Given the description of an element on the screen output the (x, y) to click on. 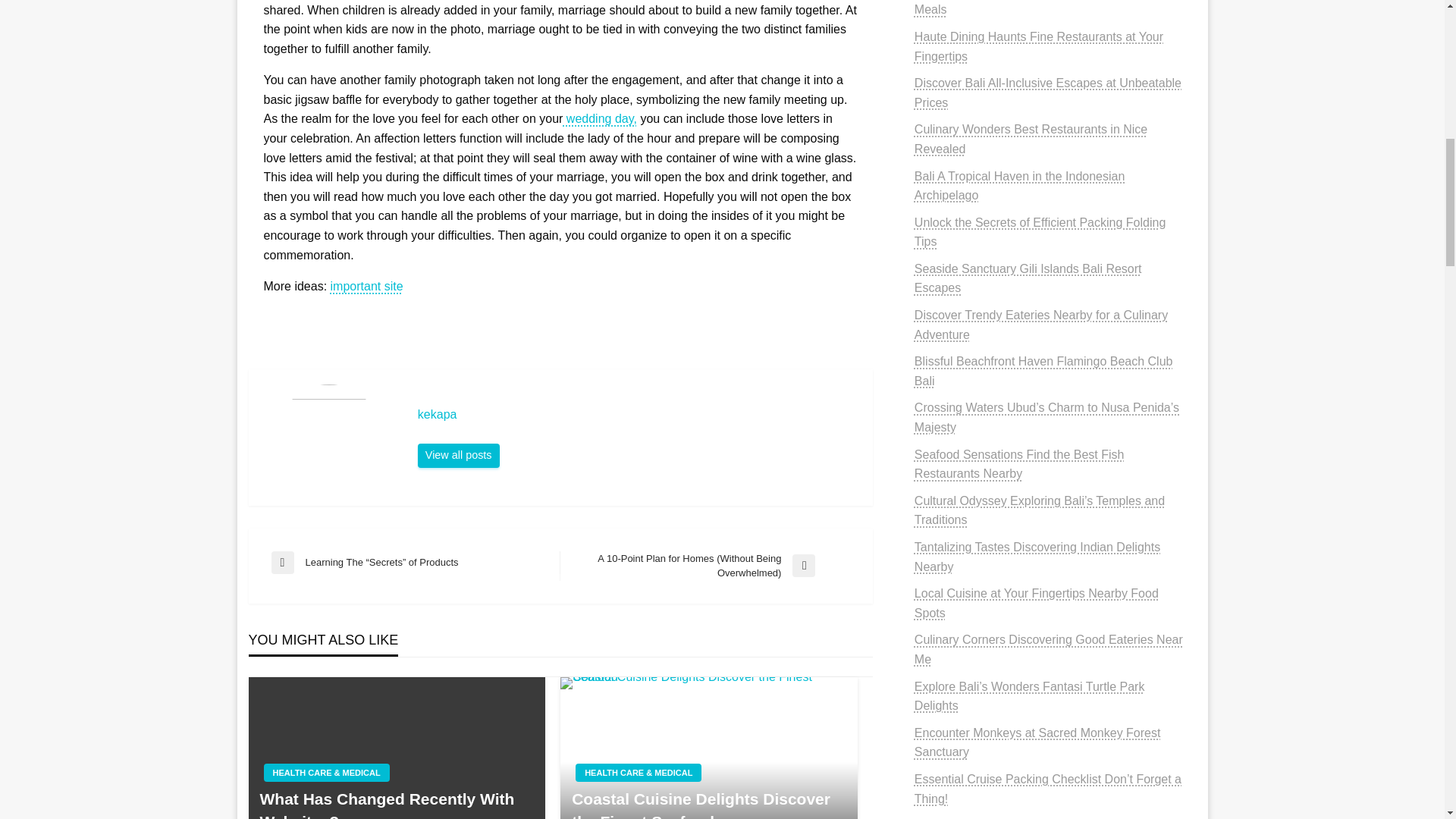
Coastal Cuisine Delights Discover the Finest Seafood (708, 748)
kekapa (637, 414)
kekapa (458, 455)
